Given the description of an element on the screen output the (x, y) to click on. 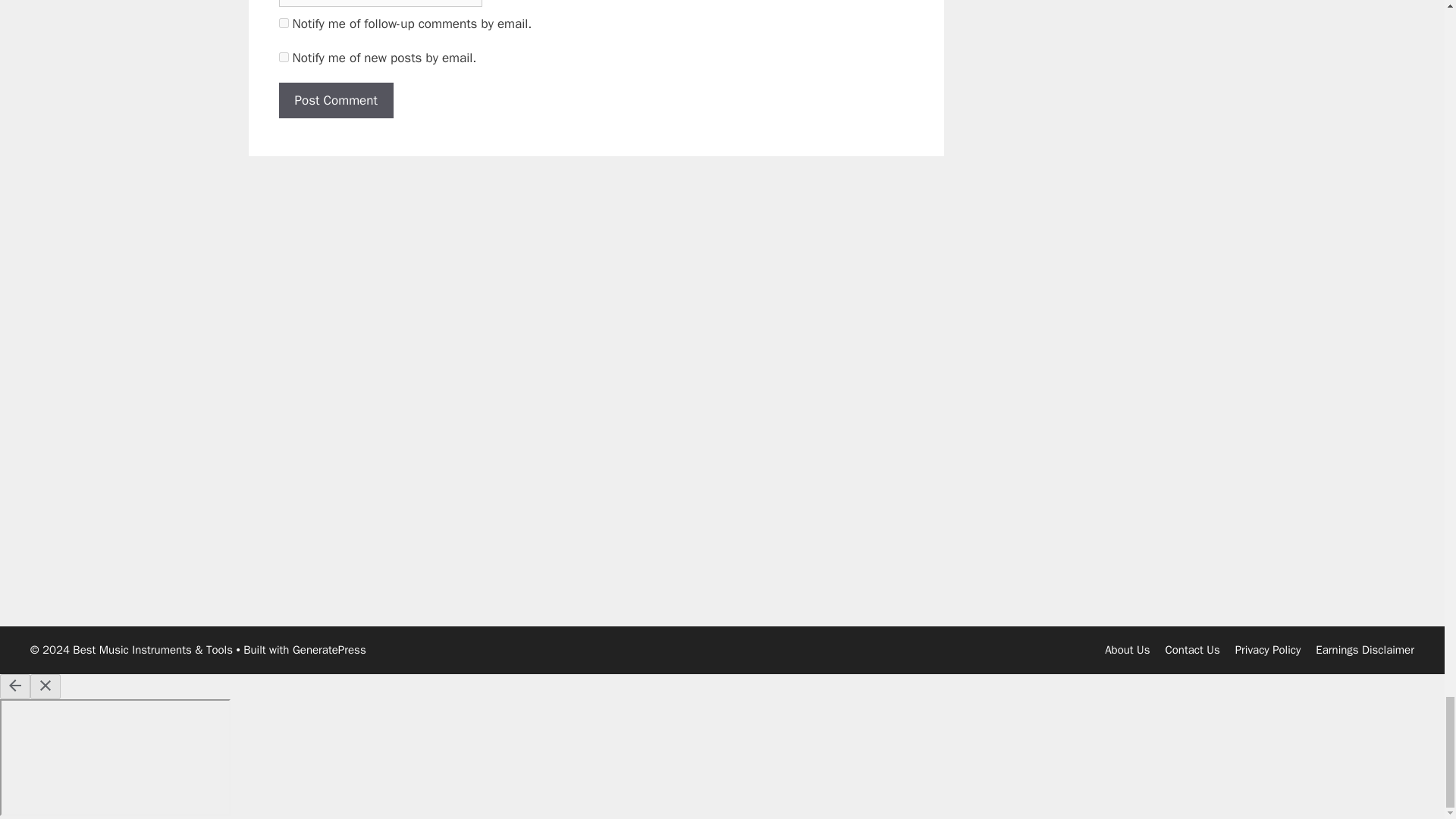
subscribe (283, 22)
subscribe (283, 57)
Post Comment (336, 100)
